Given the description of an element on the screen output the (x, y) to click on. 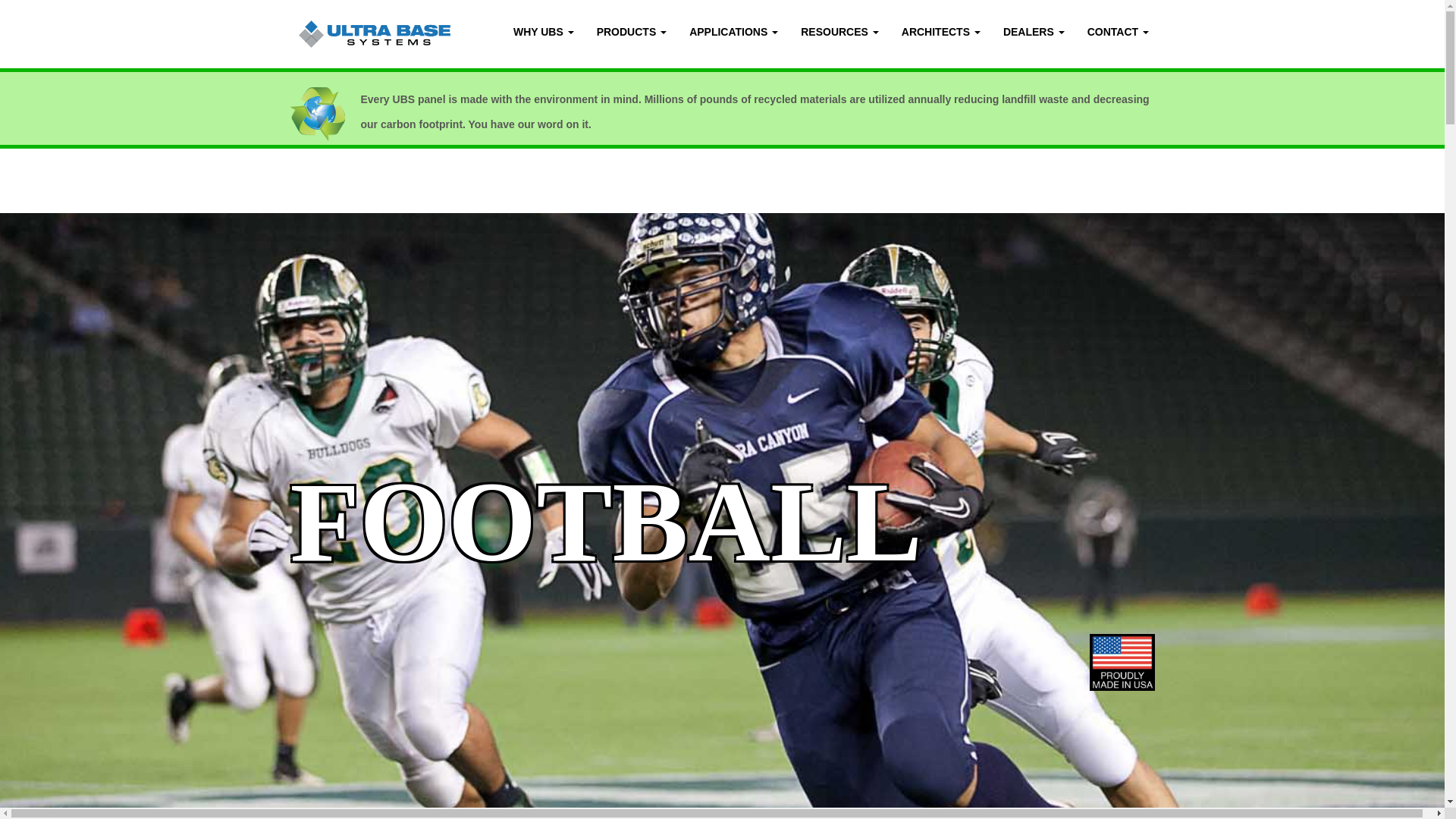
WHY UBS (543, 34)
APPLICATIONS (733, 34)
WHY UBS (543, 34)
PRODUCTS (631, 34)
PRODUCTS (631, 34)
